Given the description of an element on the screen output the (x, y) to click on. 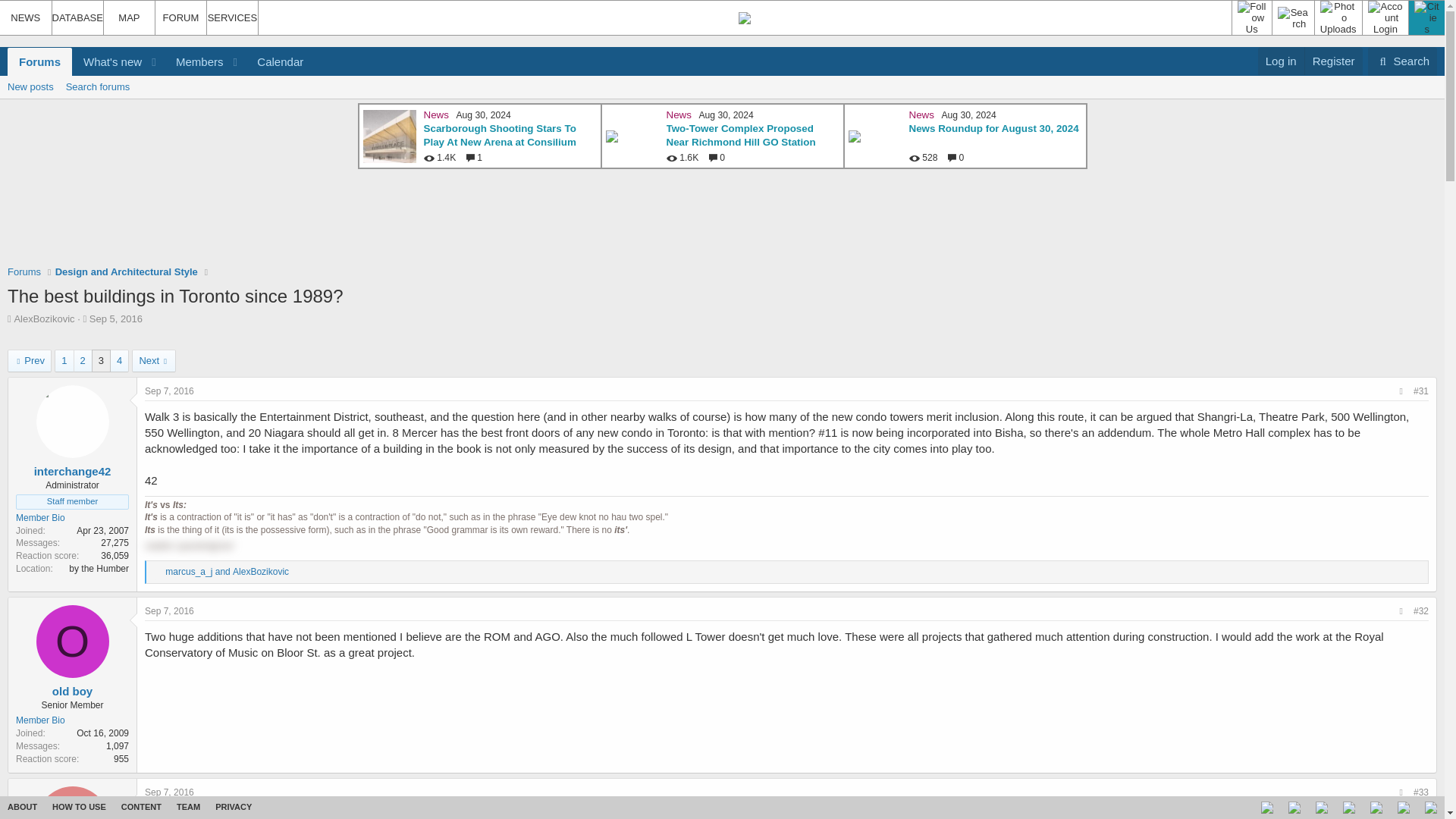
Design and Architectural Style (126, 272)
New posts (30, 87)
Log in (1280, 60)
Forums (23, 272)
Sep 7, 2016 at 5:42 AM (168, 611)
Search (160, 61)
Sep 5, 2016 at 11:37 PM (1402, 61)
Two-Tower Complex Proposed Near Richmond Hill GO Station (115, 318)
News Roundup for August 30, 2024 (740, 135)
